Given the description of an element on the screen output the (x, y) to click on. 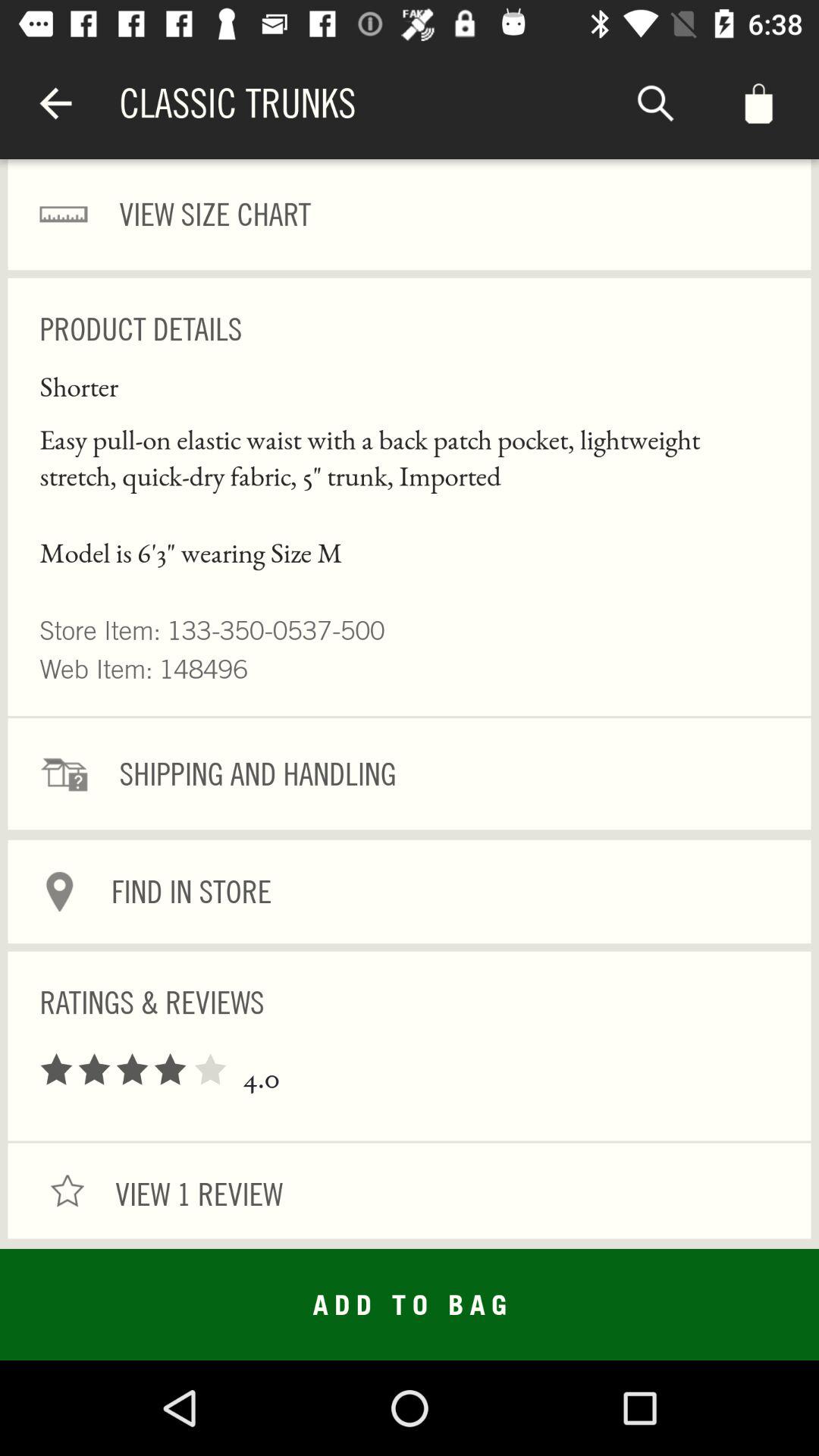
launch a d d item (409, 1304)
